Given the description of an element on the screen output the (x, y) to click on. 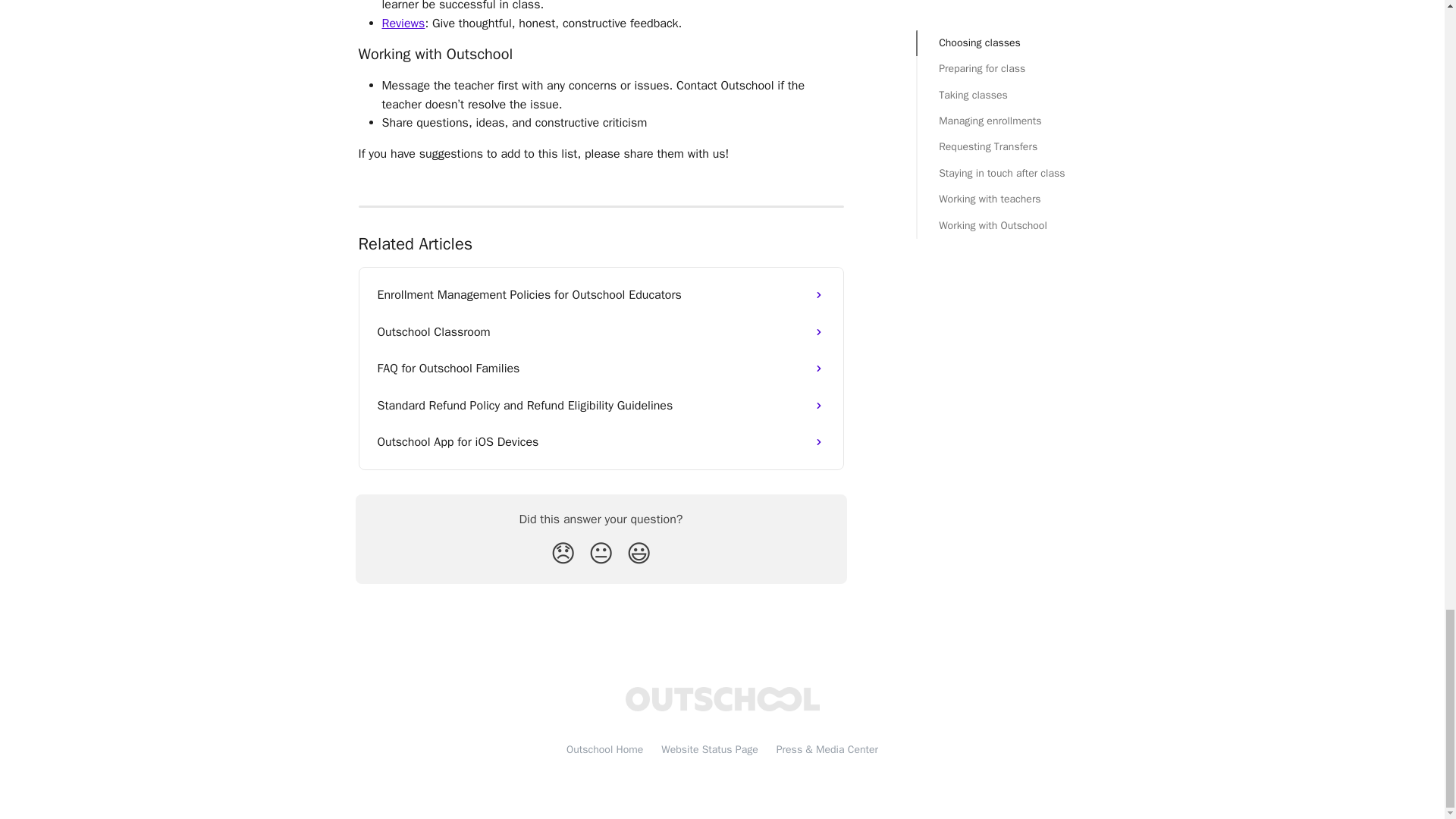
Outschool Classroom (601, 331)
Enrollment Management Policies for Outschool Educators (601, 294)
FAQ for Outschool Families (601, 368)
Reviews (403, 23)
